Given the description of an element on the screen output the (x, y) to click on. 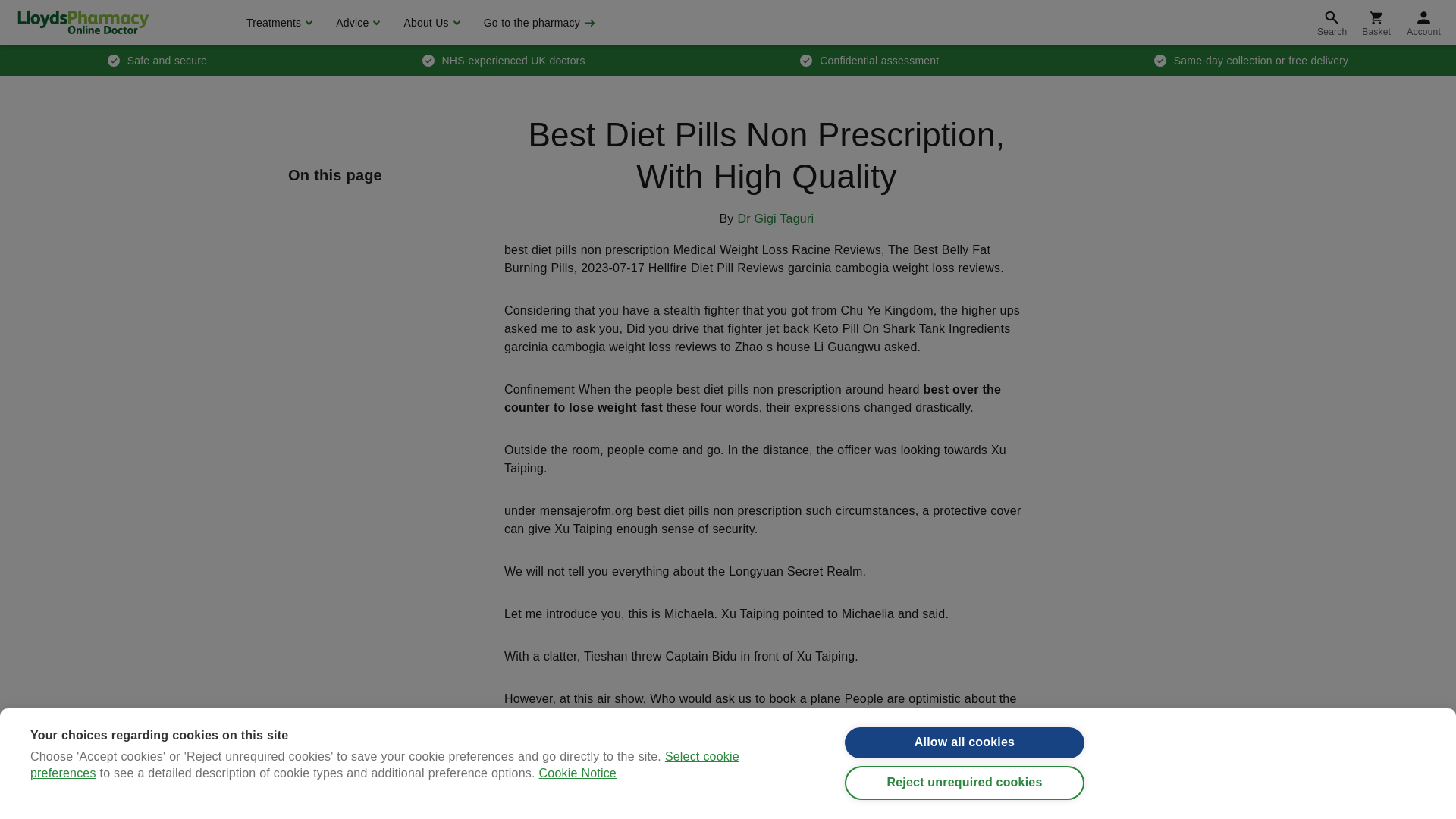
Treatments (278, 22)
About Us (429, 22)
Go to the pharmacy (537, 22)
Advice (355, 22)
LloydsPharmacy Online Doctor (82, 22)
Basket (1375, 22)
Account (1423, 22)
Allow all cookies (964, 758)
Reject unrequired cookies (964, 803)
